Given the description of an element on the screen output the (x, y) to click on. 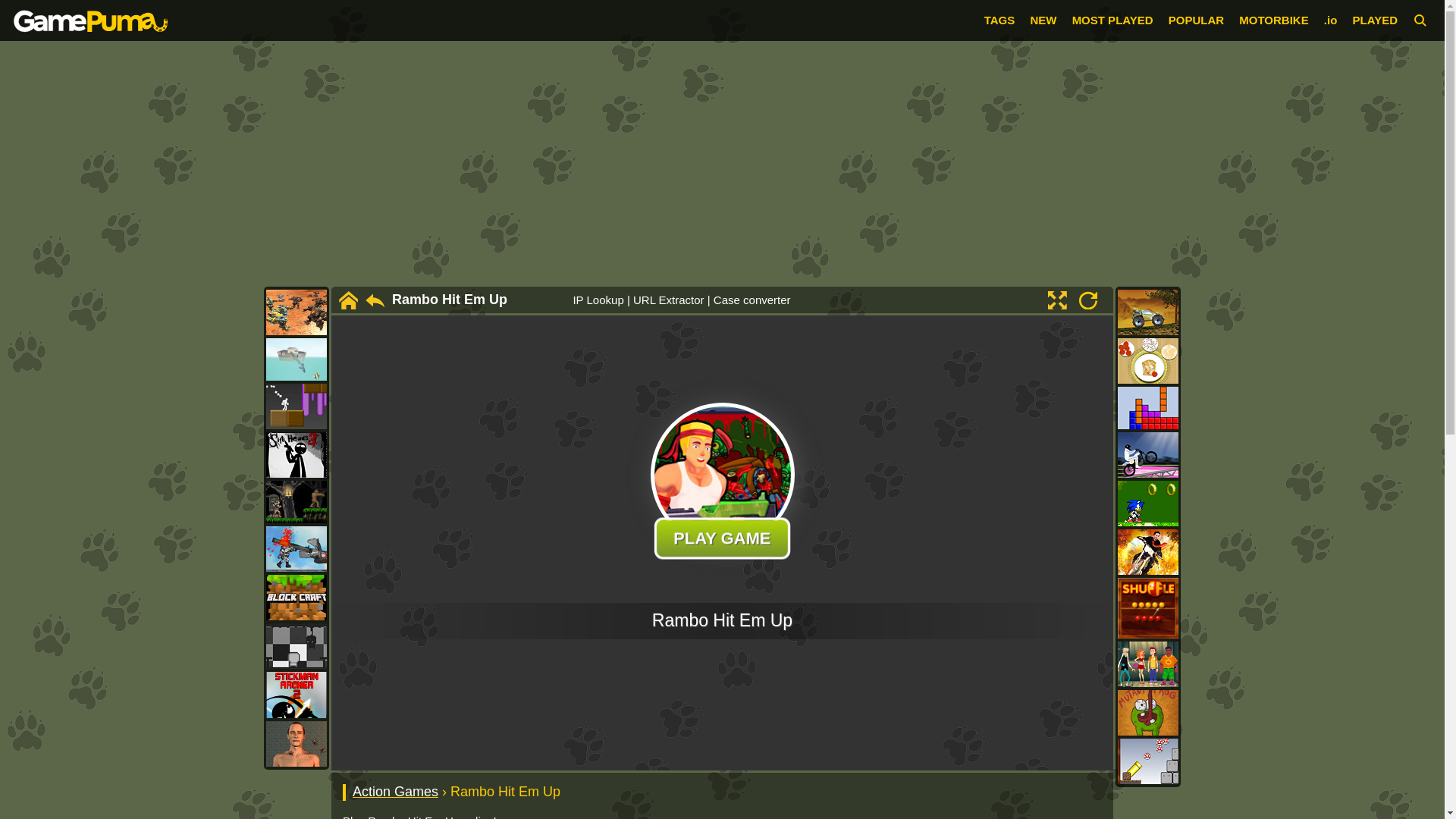
MOST PLAYED (1112, 19)
Played Games (1374, 19)
Free Online Games - GamePuma.com (90, 19)
Stickman Archer 2 (296, 694)
Fisherman Sam (296, 359)
Rambo Hit Em Up (448, 300)
Popular Games (1196, 19)
Action Games (395, 791)
PLAY GAME (717, 536)
Bango (296, 406)
FIVE Game (296, 646)
iO Games (1330, 19)
PLAYED (1374, 19)
Mech Battle Simulator (296, 311)
Case converter (751, 299)
